Given the description of an element on the screen output the (x, y) to click on. 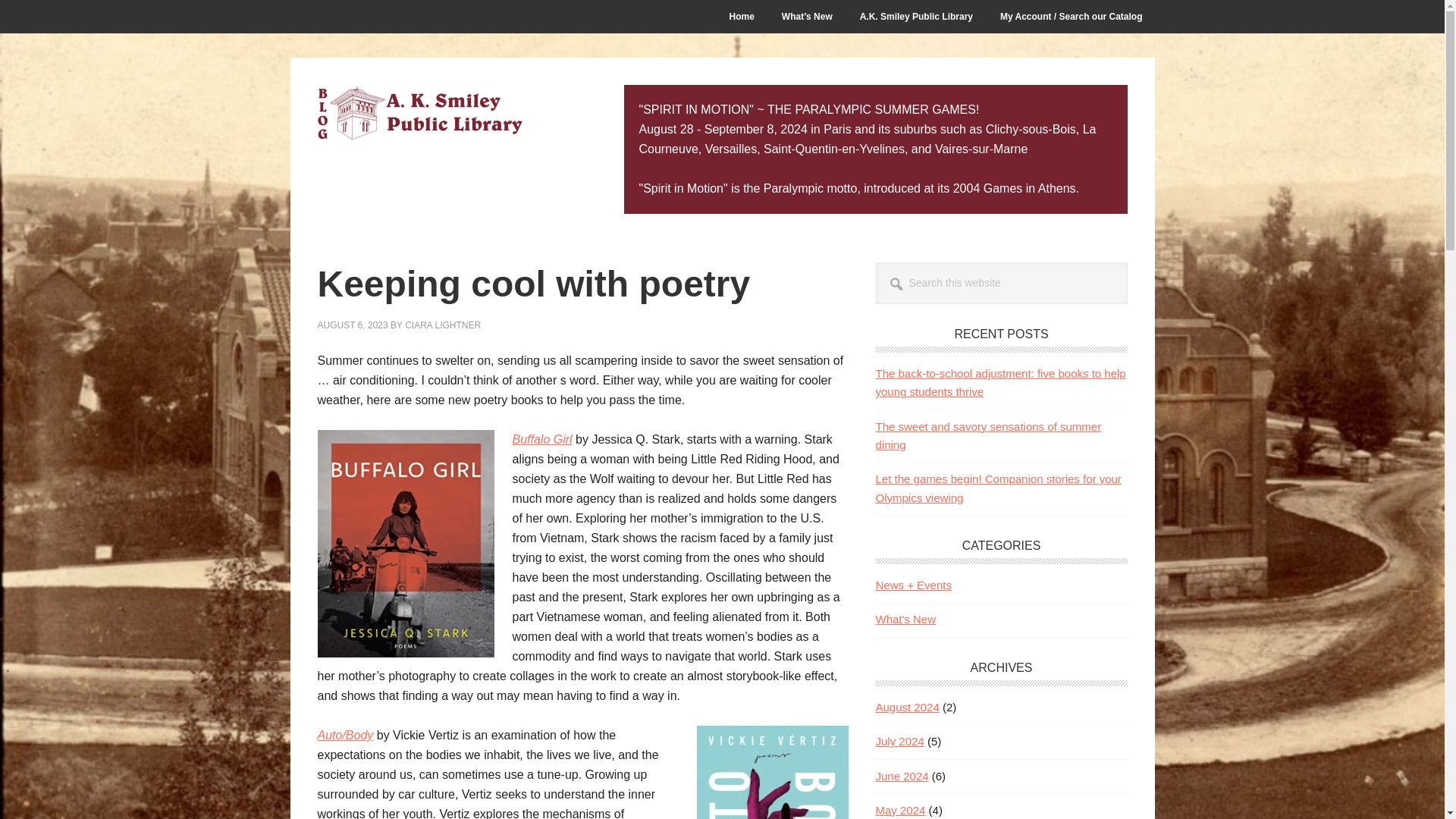
A.K. Smiley Public Library (916, 16)
The sweet and savory sensations of summer dining (987, 435)
Buffalo Girl (542, 439)
What's New (905, 618)
A.K. SMILEY PUBLIC LIBRARY BLOG (419, 115)
July 2024 (899, 740)
August 2024 (907, 707)
Home (742, 16)
